Given the description of an element on the screen output the (x, y) to click on. 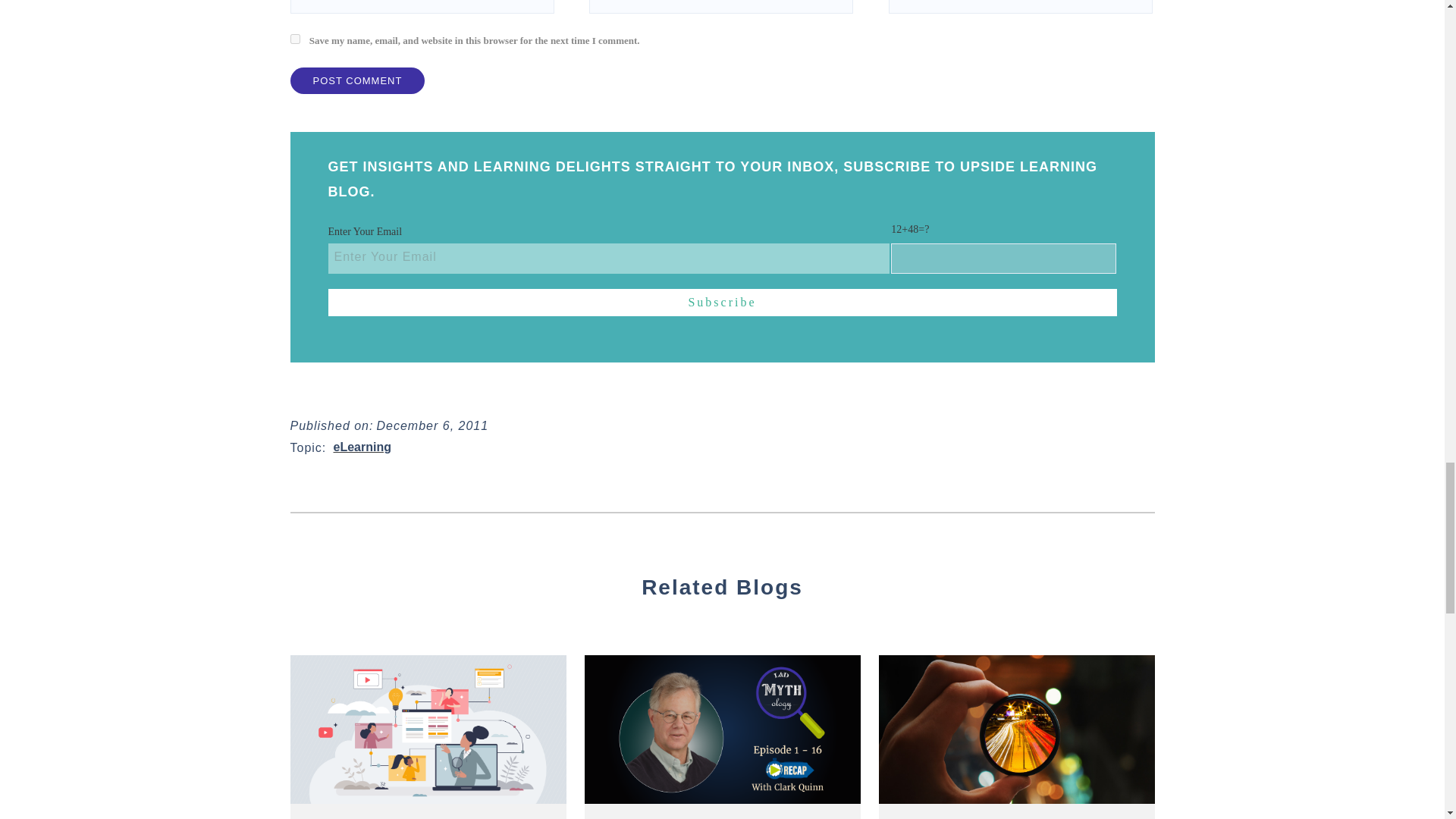
Post Comment (357, 81)
Subscribe (721, 302)
yes (294, 39)
